Given the description of an element on the screen output the (x, y) to click on. 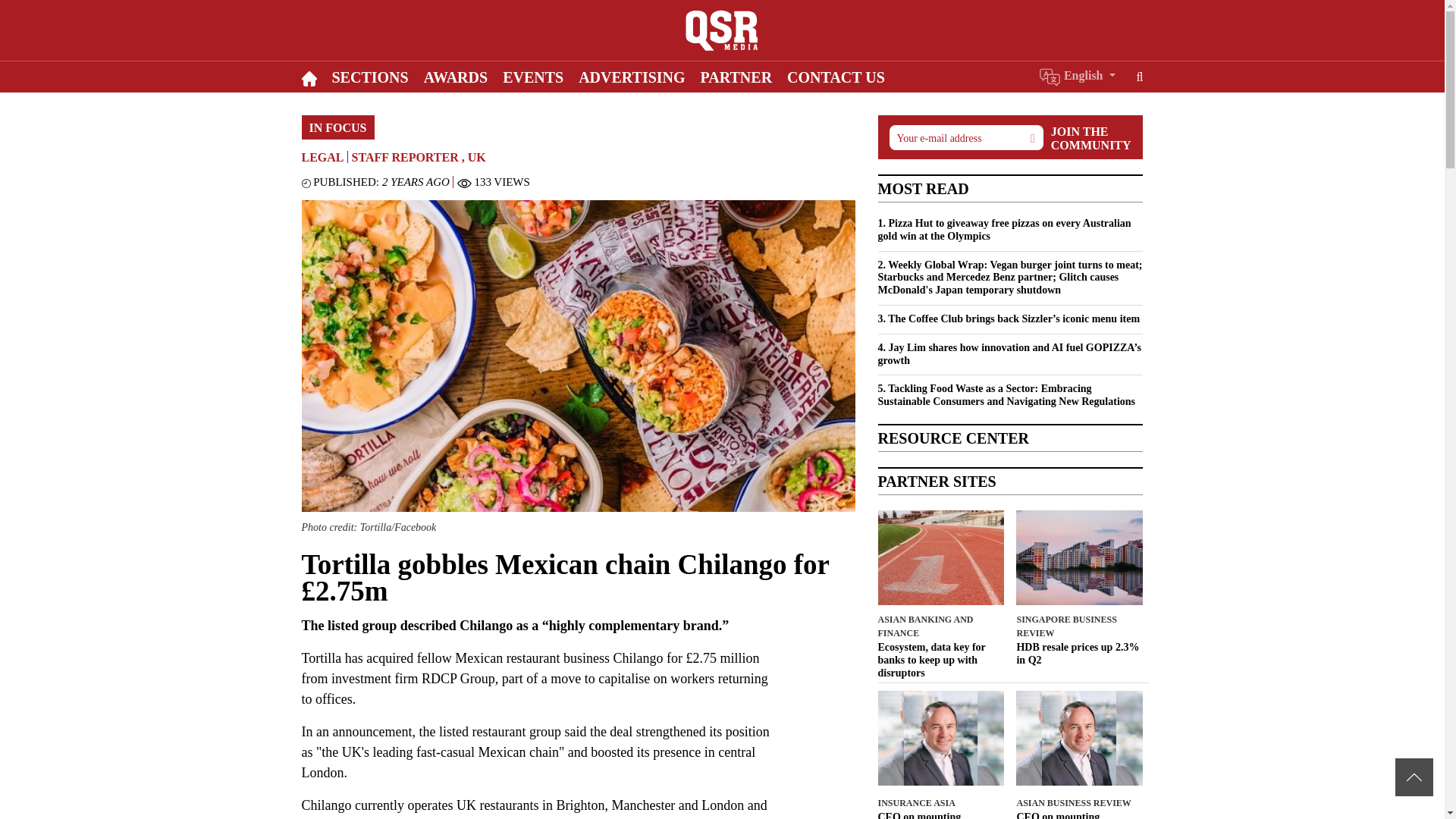
Ecosystem, data key for banks to keep up with disruptors (940, 660)
CEO on mounting regulatory challenges for APAC insurers (1079, 815)
CEO on mounting regulatory challenges for APAC insurers (940, 815)
Please enter a valid email (965, 137)
